Given the description of an element on the screen output the (x, y) to click on. 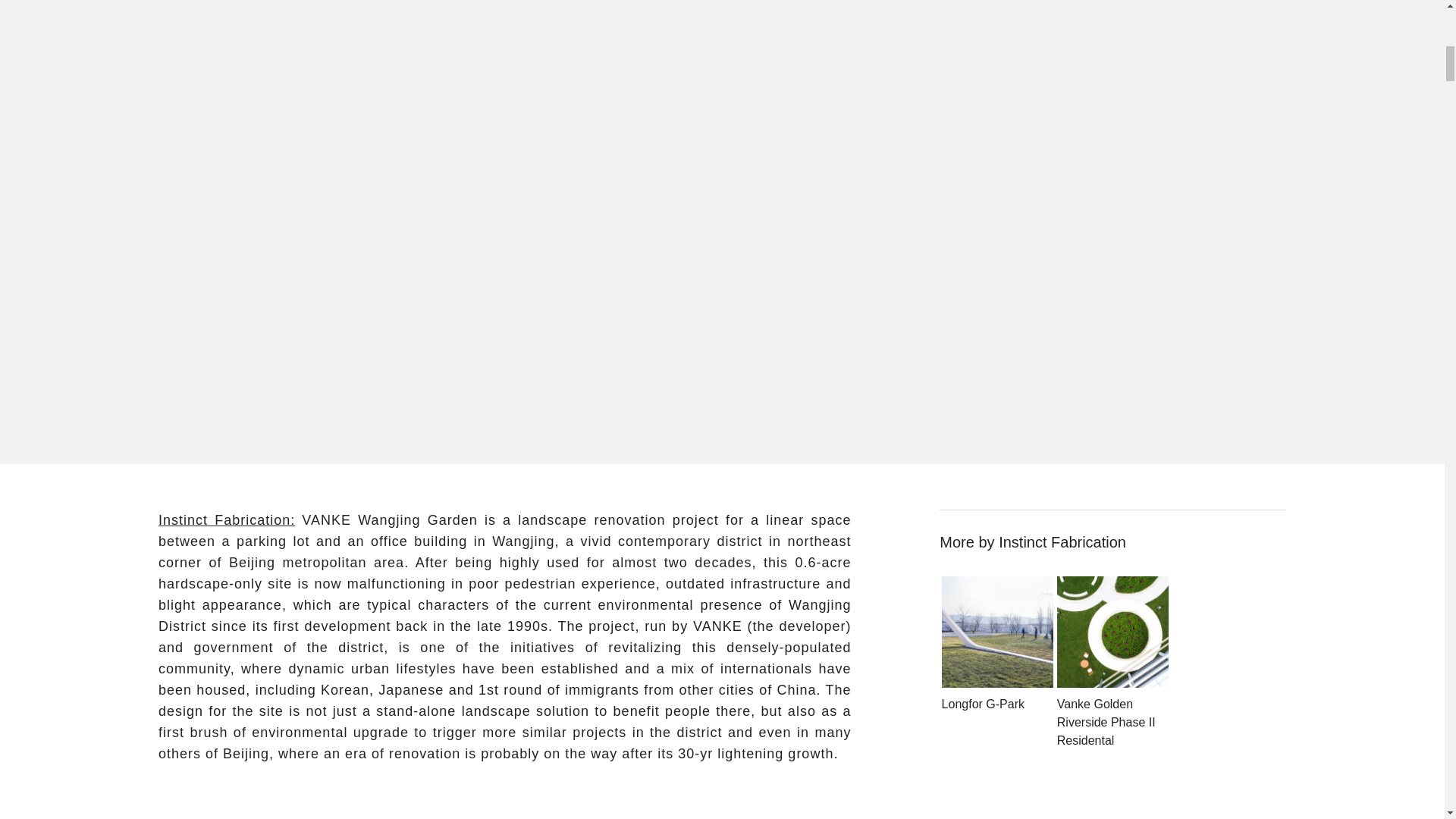
Instinct Fabrication (1061, 541)
Instinct Fabrication: (226, 519)
